Given the description of an element on the screen output the (x, y) to click on. 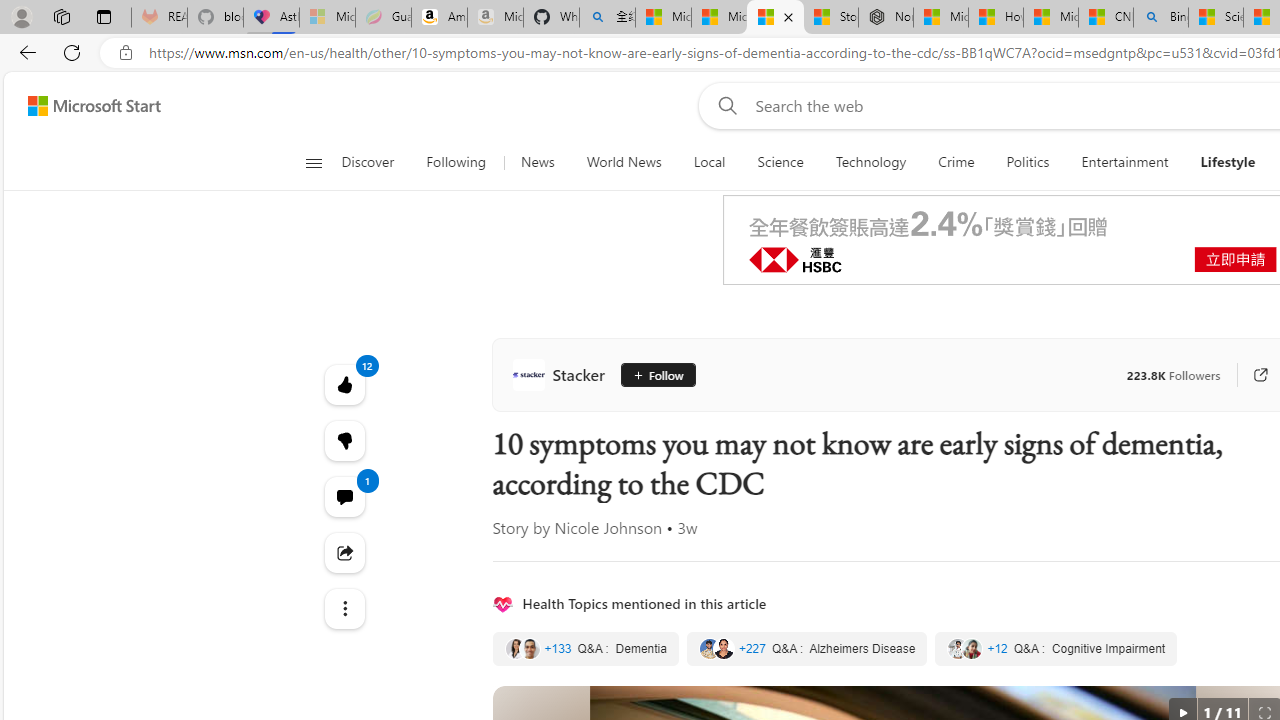
News (537, 162)
Skip to content (86, 105)
Class: button-glyph (313, 162)
12 (343, 440)
CNN - MSN (1105, 17)
Class: at-item (343, 609)
Politics (1027, 162)
World News (623, 162)
View comments 1 Comment (343, 496)
Politics (1027, 162)
